Given the description of an element on the screen output the (x, y) to click on. 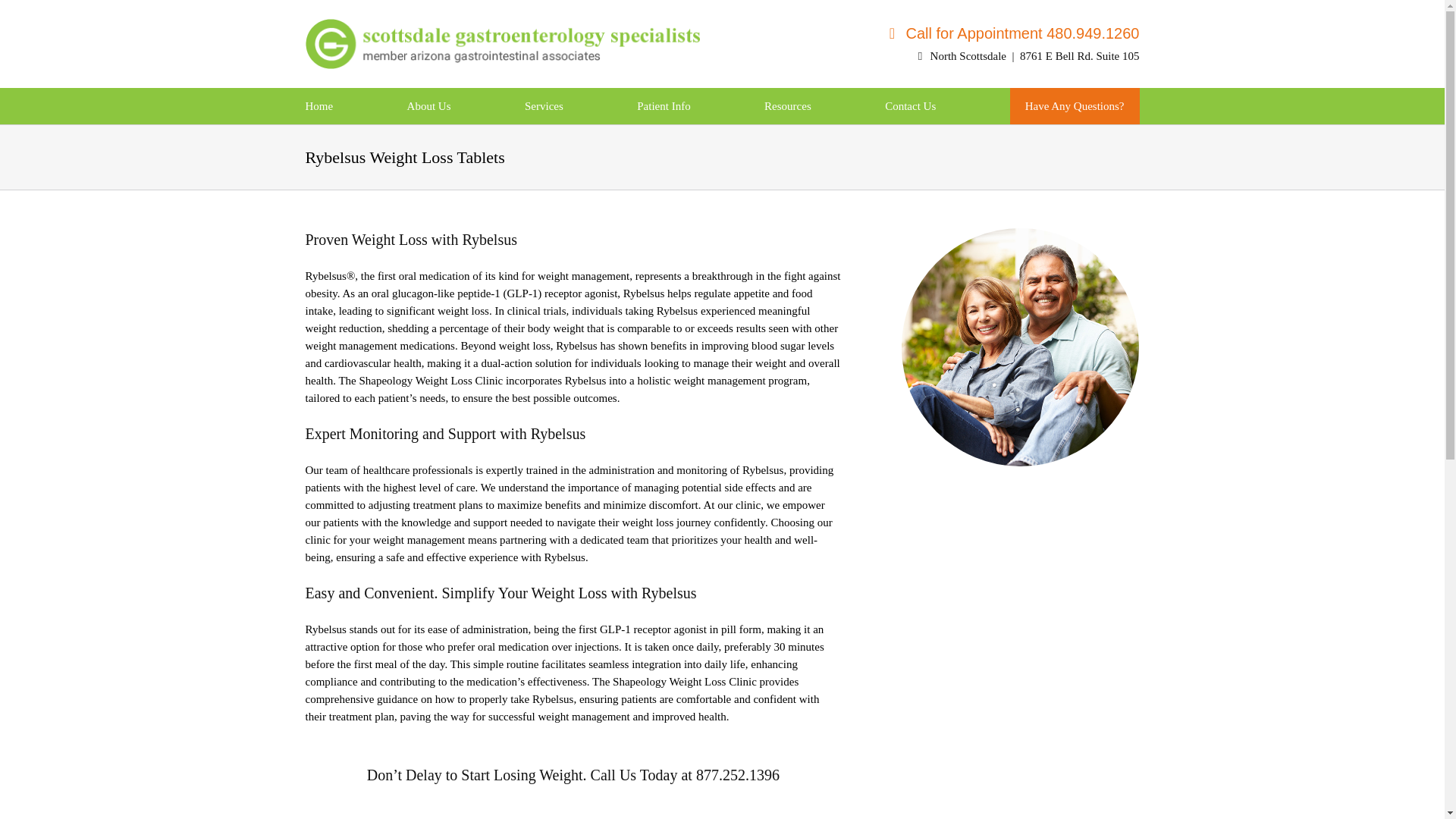
Call for Appointment 480.949.1260 (941, 33)
Services (543, 105)
Contact Us (910, 105)
Patient Info (663, 105)
Home (318, 105)
About Us (429, 105)
Have Any Questions? (1074, 105)
Resources (787, 105)
